Given the description of an element on the screen output the (x, y) to click on. 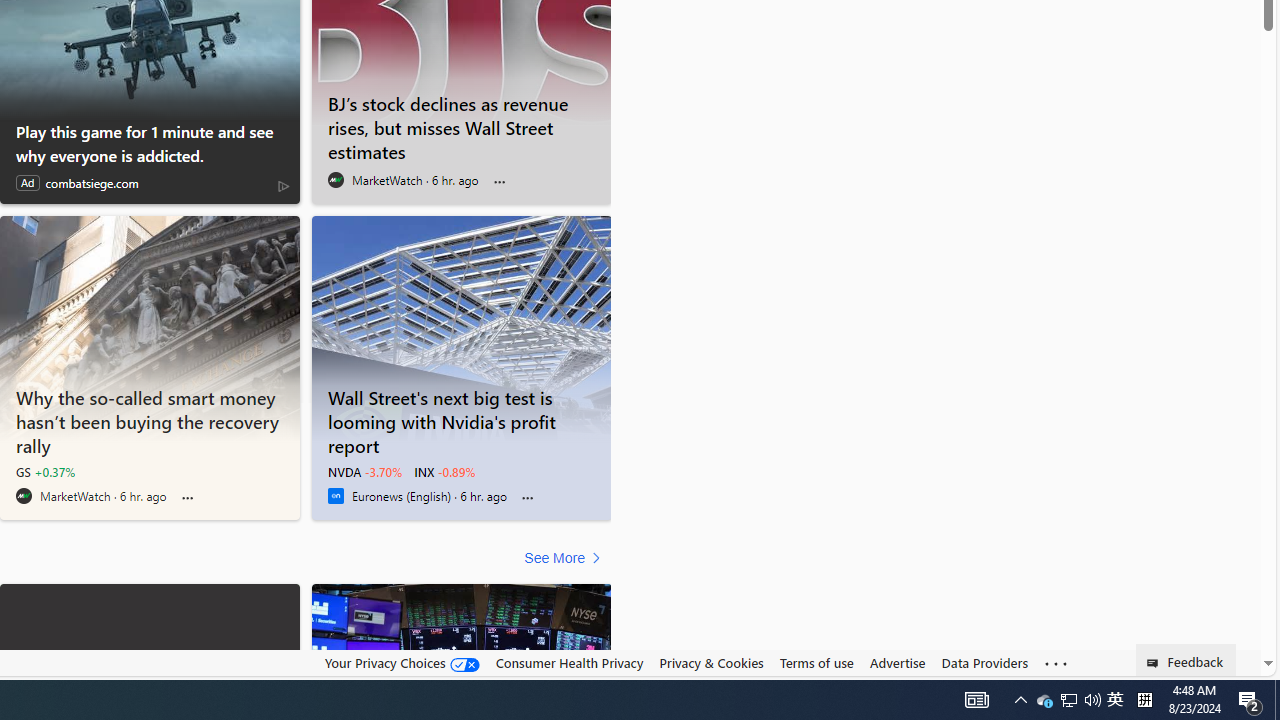
Euronews (English) (335, 495)
Class: oneFooter_seeMore-DS-EntryPoint1-1 (1055, 663)
See more (1055, 664)
MarketWatch (23, 495)
Privacy & Cookies (711, 662)
Consumer Health Privacy (569, 663)
Feedback (1186, 659)
Your Privacy Choices (401, 663)
Advertise (897, 663)
Class: feedback_link_icon-DS-EntryPoint1-1 (1156, 663)
Data Providers (983, 663)
